Given the description of an element on the screen output the (x, y) to click on. 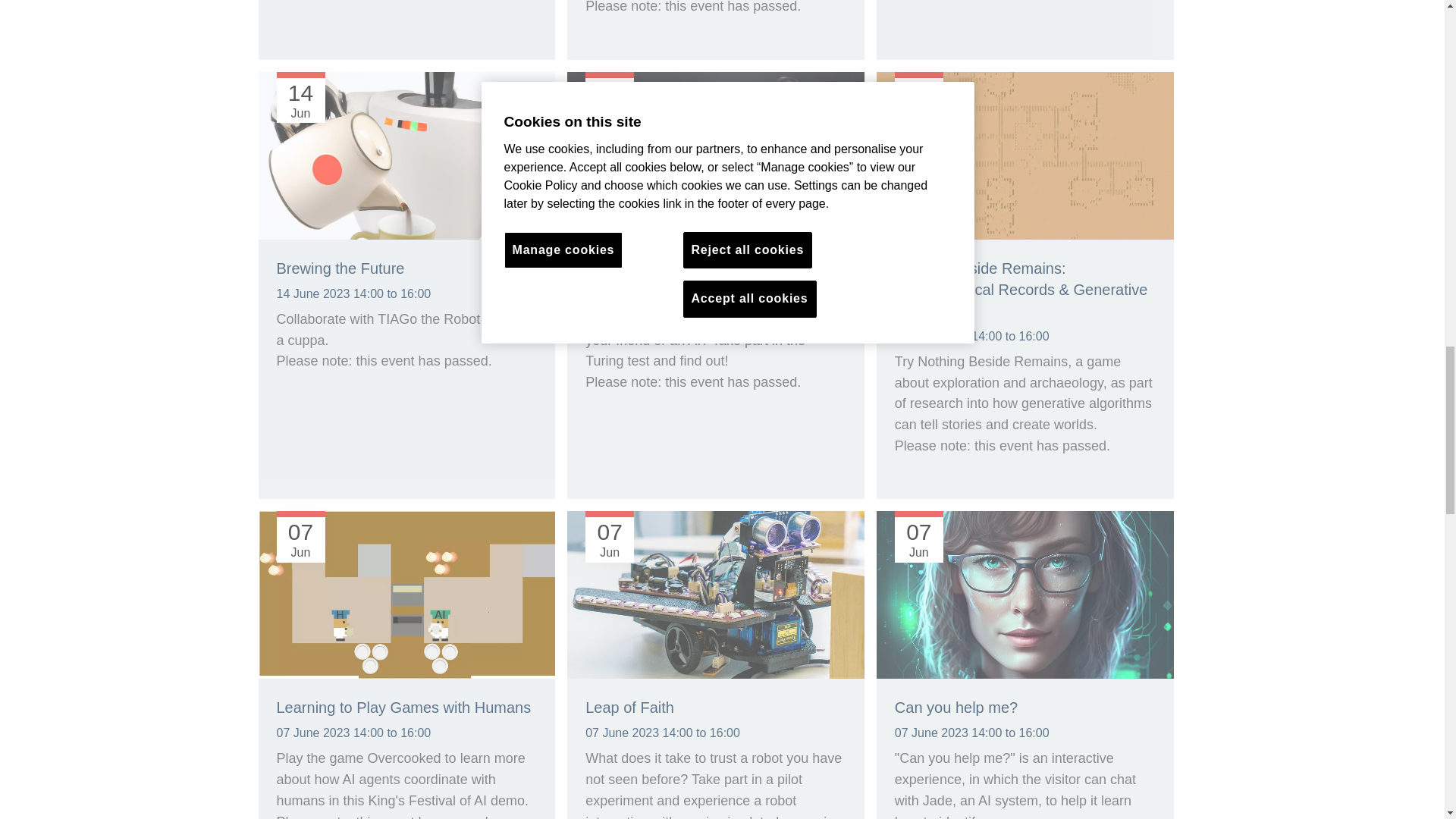
Turing Test (715, 157)
Brewing the Future (405, 157)
Brewing the Future (340, 268)
Can you help me? (1024, 596)
Turing Test (622, 268)
Learning to Play Games with Humans (405, 596)
Can you help me? (956, 707)
Leap of Faith (629, 707)
Learning to Play Games with Humans (403, 707)
Leap of Faith (715, 596)
